Given the description of an element on the screen output the (x, y) to click on. 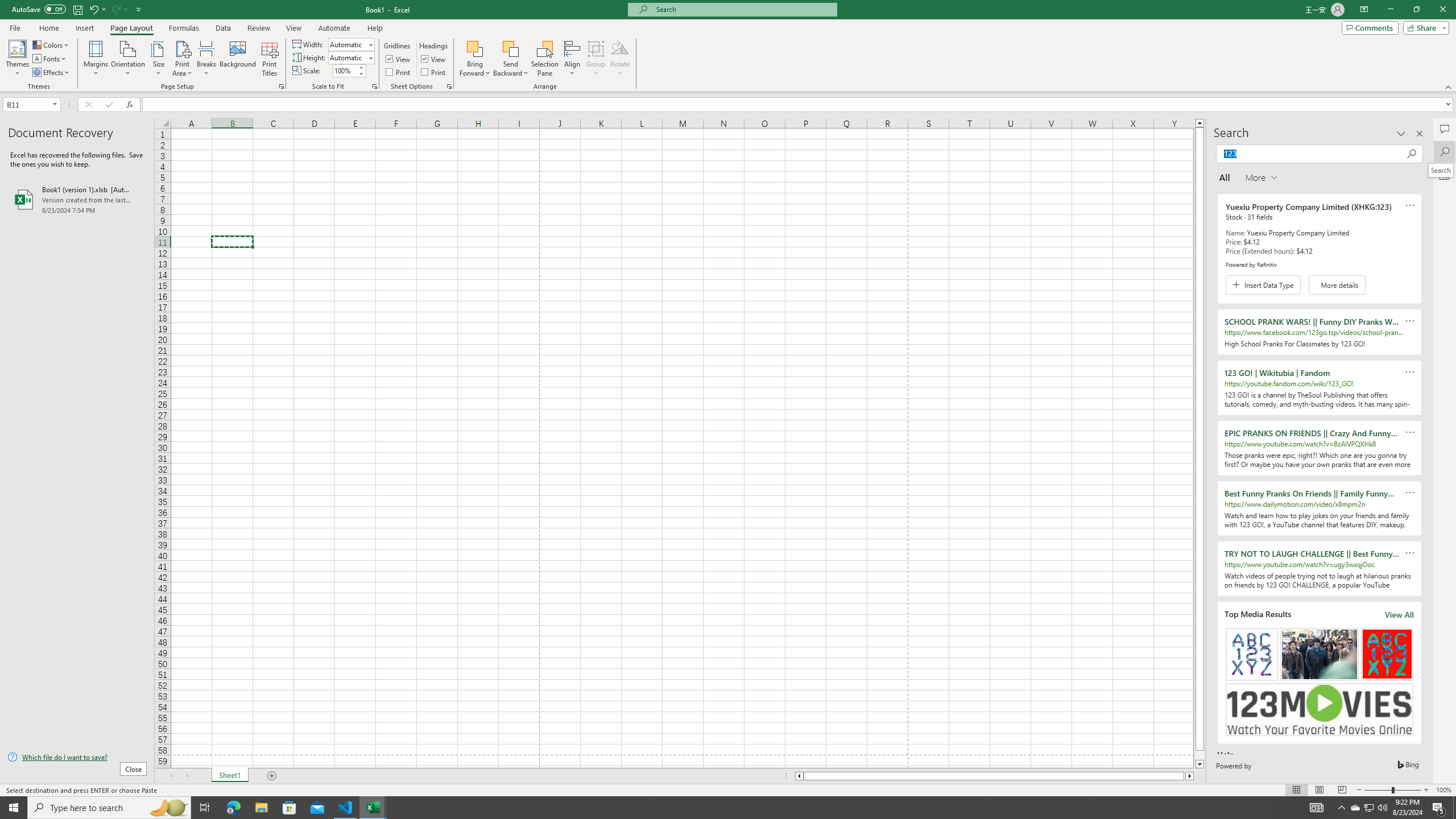
Themes (17, 58)
Less (360, 73)
Size (158, 58)
Restore Down (1416, 9)
Microsoft search (742, 9)
